Given the description of an element on the screen output the (x, y) to click on. 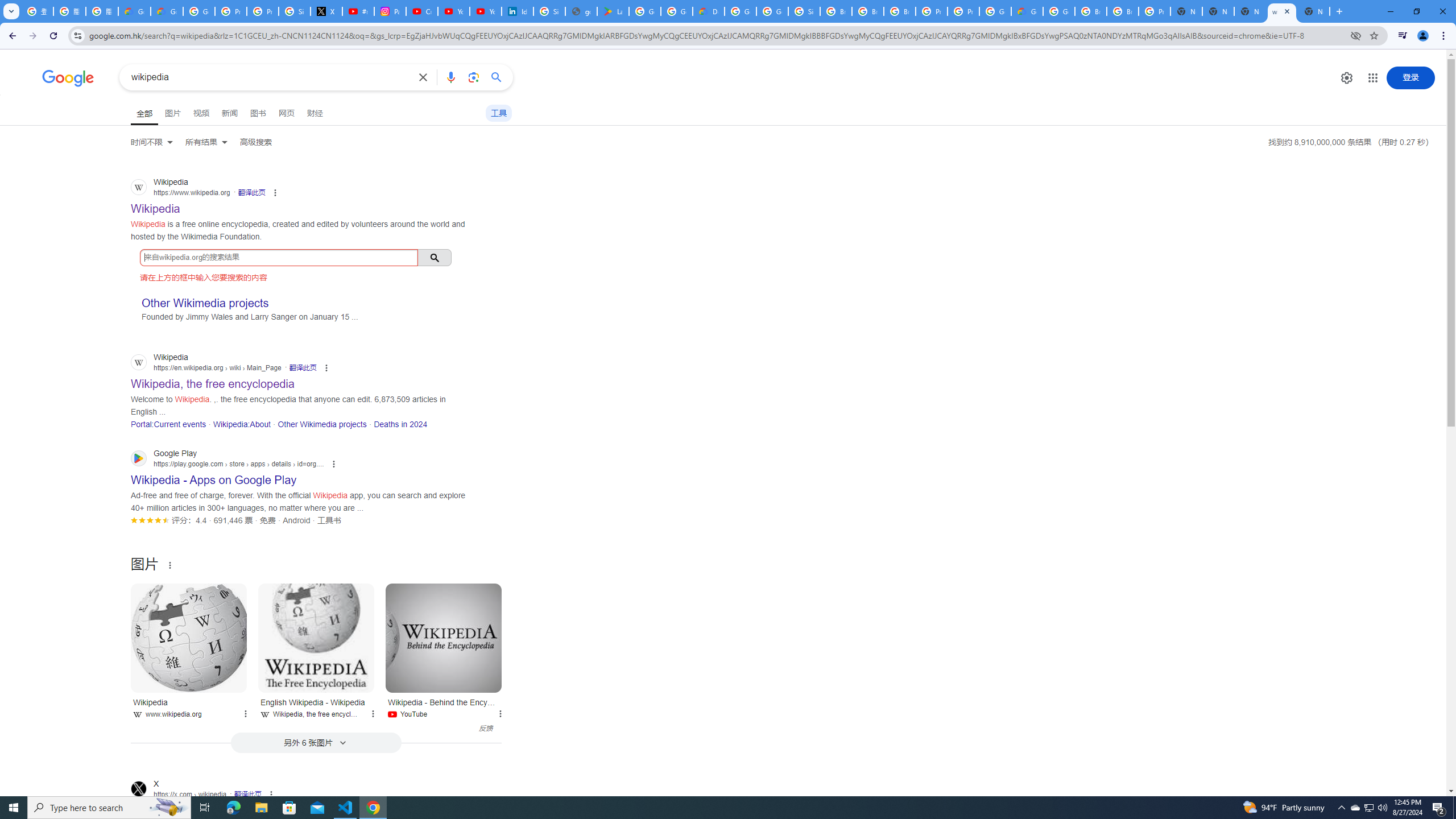
Wikipedia - Behind the Encyclopedia (443, 637)
Sign in - Google Accounts (294, 11)
YouTube Culture & Trends - YouTube Top 10, 2021 (485, 11)
Privacy Help Center - Policies Help (230, 11)
English Wikipedia - Wikipedia (315, 637)
Deaths in 2024 (401, 424)
